Given the description of an element on the screen output the (x, y) to click on. 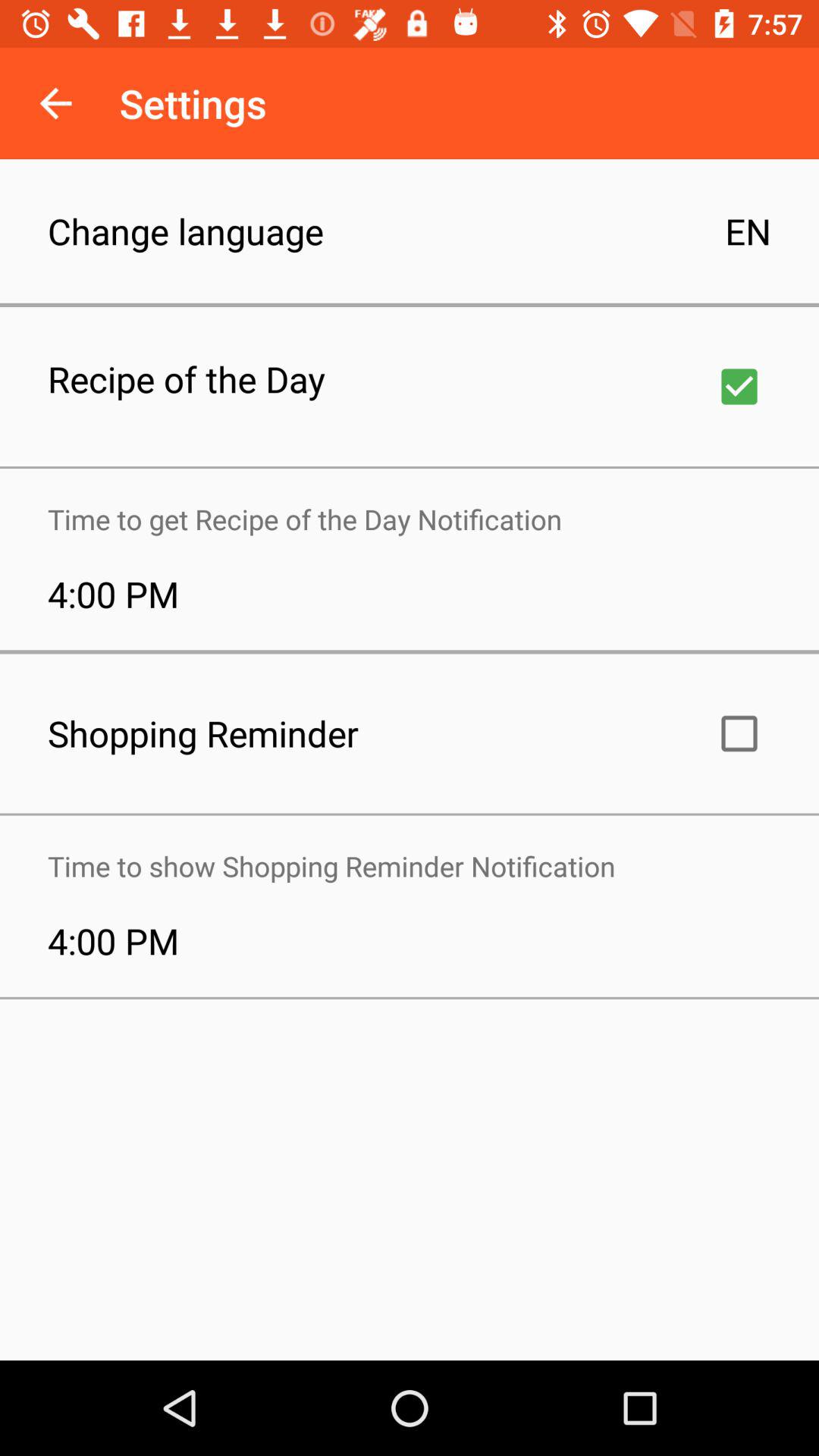
tap the icon above change language icon (55, 103)
